Given the description of an element on the screen output the (x, y) to click on. 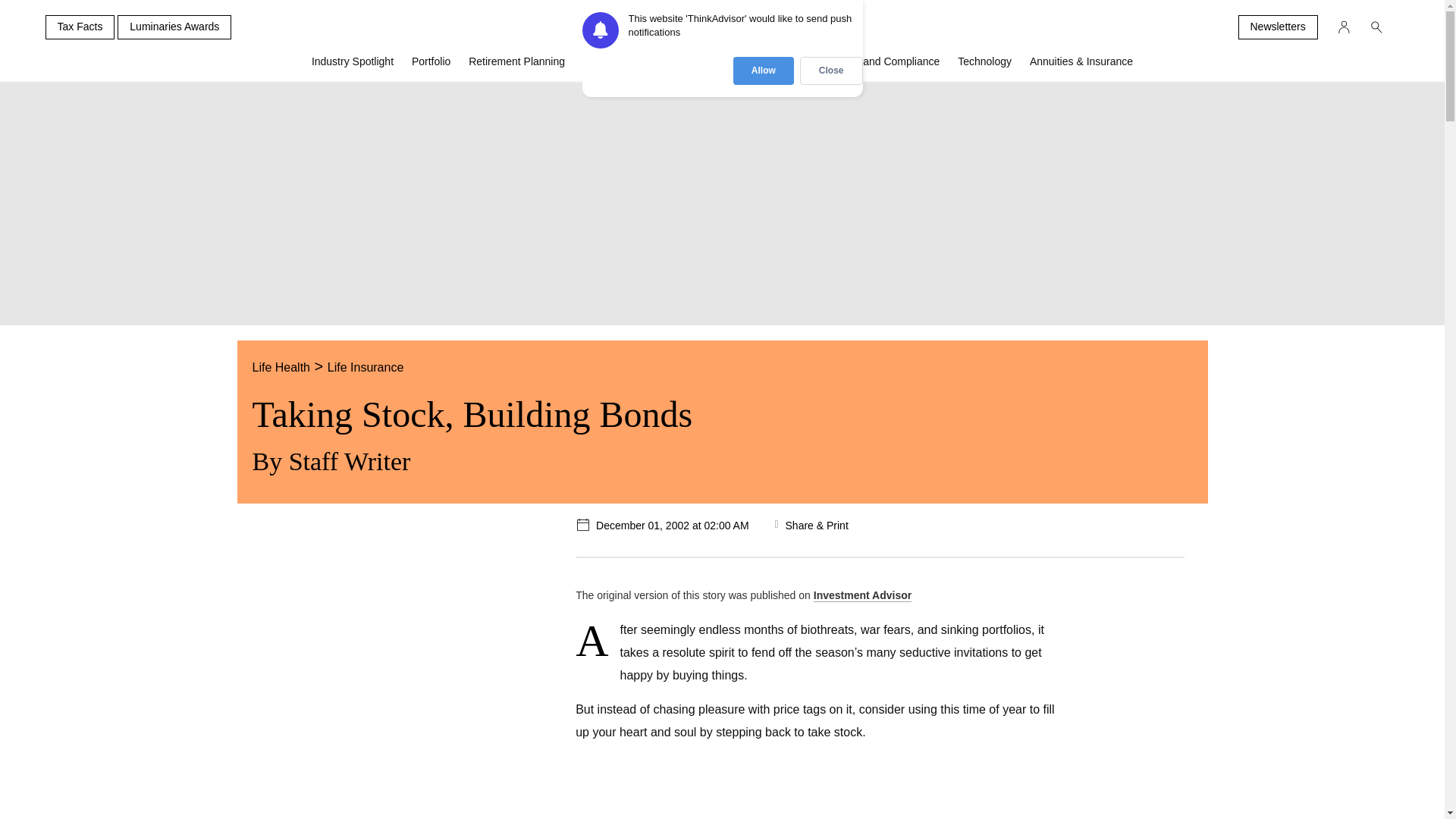
Industry Spotlight (352, 67)
Tax Facts (80, 27)
Luminaries Awards (174, 27)
3rd party ad content (850, 792)
Newsletters (1277, 27)
